Given the description of an element on the screen output the (x, y) to click on. 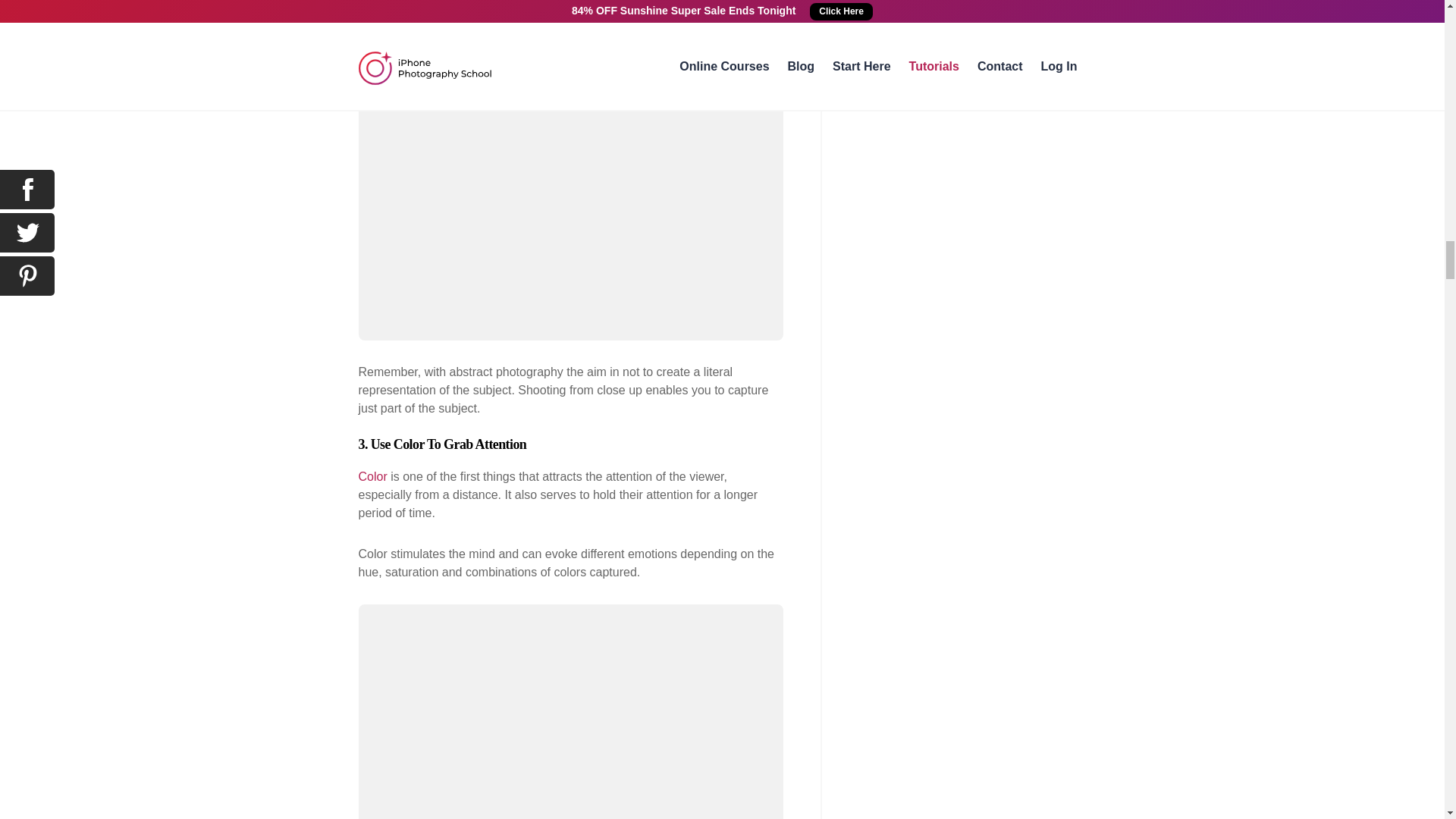
Color (372, 476)
6 Essential Color Concepts For Better iPhone Photography (372, 476)
